Given the description of an element on the screen output the (x, y) to click on. 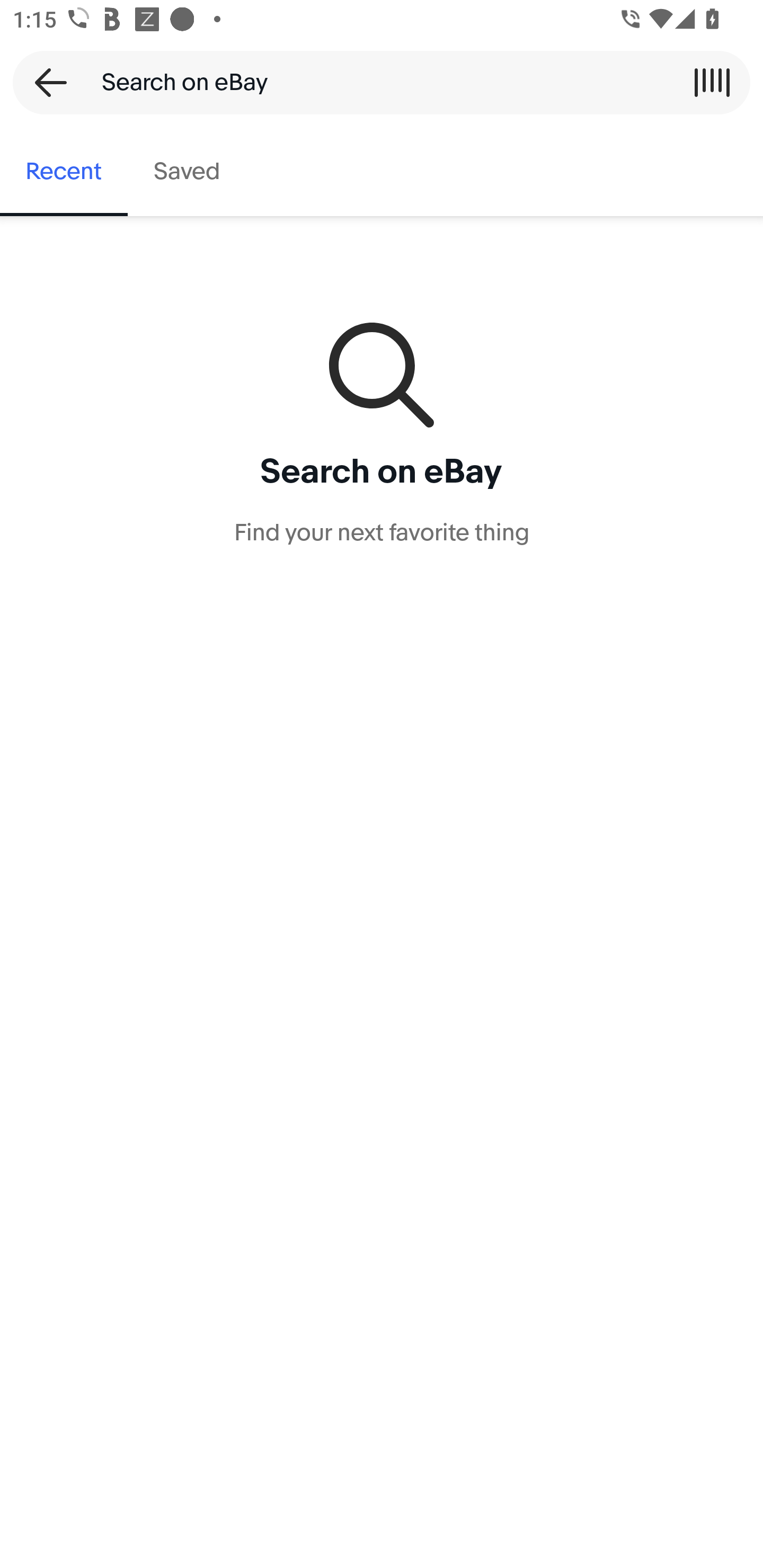
Back (44, 82)
Scan a barcode (711, 82)
Search on eBay (375, 82)
Saved, tab 2 of 2 Saved (186, 171)
